Given the description of an element on the screen output the (x, y) to click on. 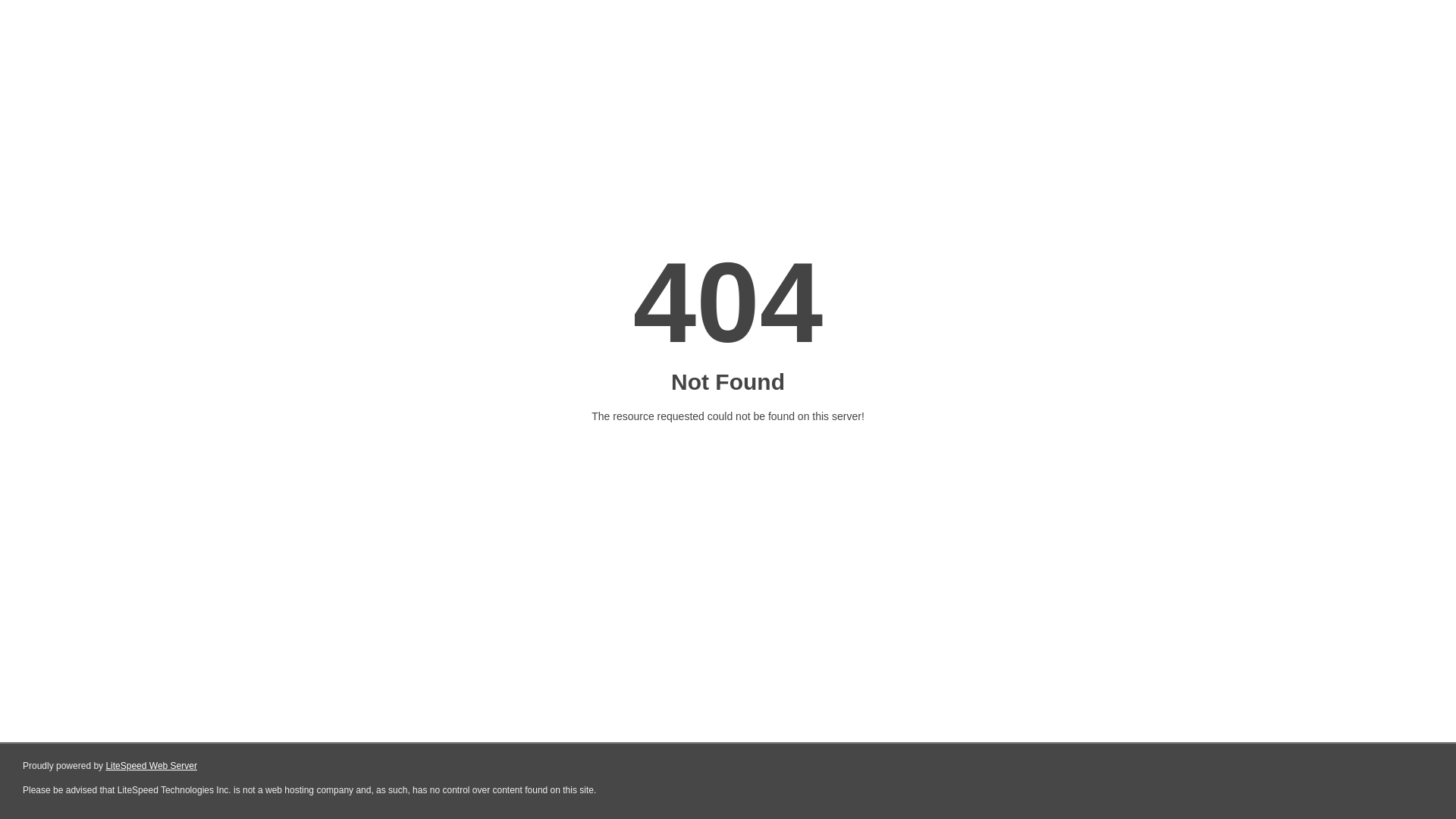
LiteSpeed Web Server Element type: text (151, 765)
